Given the description of an element on the screen output the (x, y) to click on. 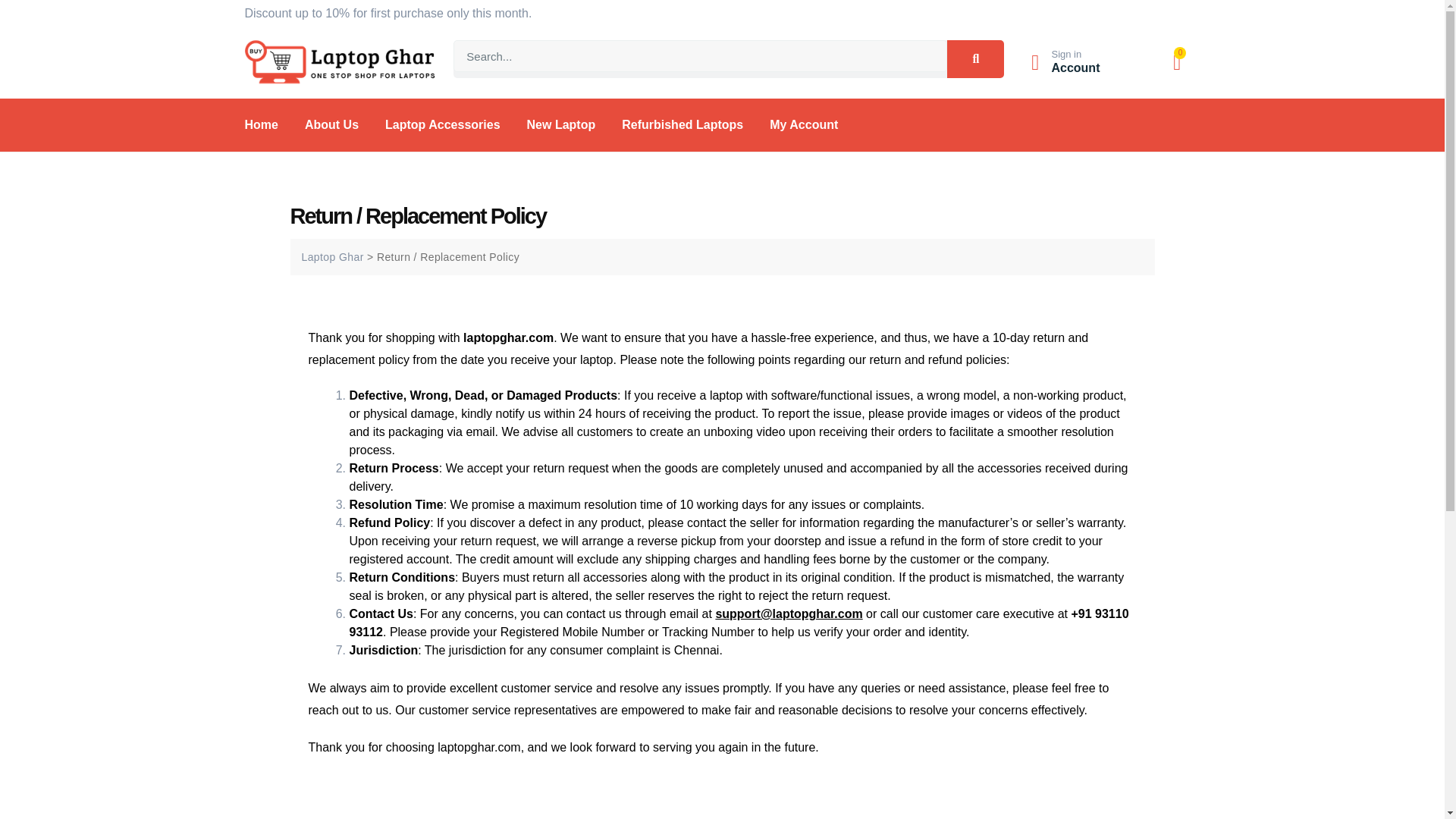
Search (975, 58)
Search (699, 56)
Go to Laptop Ghar. (332, 256)
Laptop Accessories (442, 125)
0 (1176, 62)
My Account (804, 125)
About Us (331, 125)
Sign in (1066, 53)
New Laptop (561, 125)
Refurbished Laptops (681, 125)
